Given the description of an element on the screen output the (x, y) to click on. 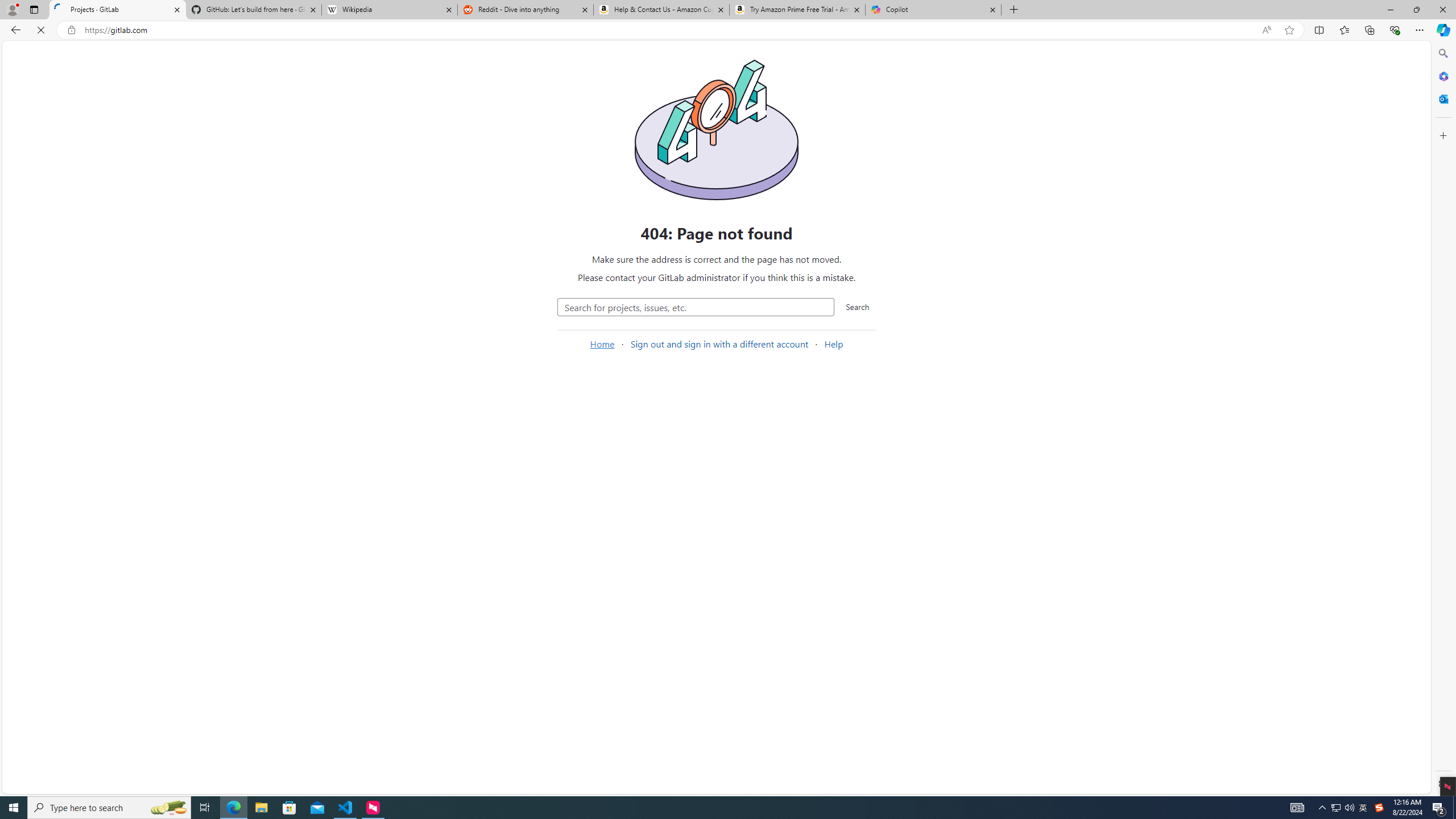
Merge requests 0 (74, 76)
Security (74, 359)
New project (1114, 187)
Wikipedia (390, 9)
Sort direction: Ascending (1125, 253)
Projects (218, 53)
Issues (74, 185)
Dismiss trial promotion (1131, 93)
Milestones (74, 244)
Projects (218, 53)
Copilot (933, 9)
